Given the description of an element on the screen output the (x, y) to click on. 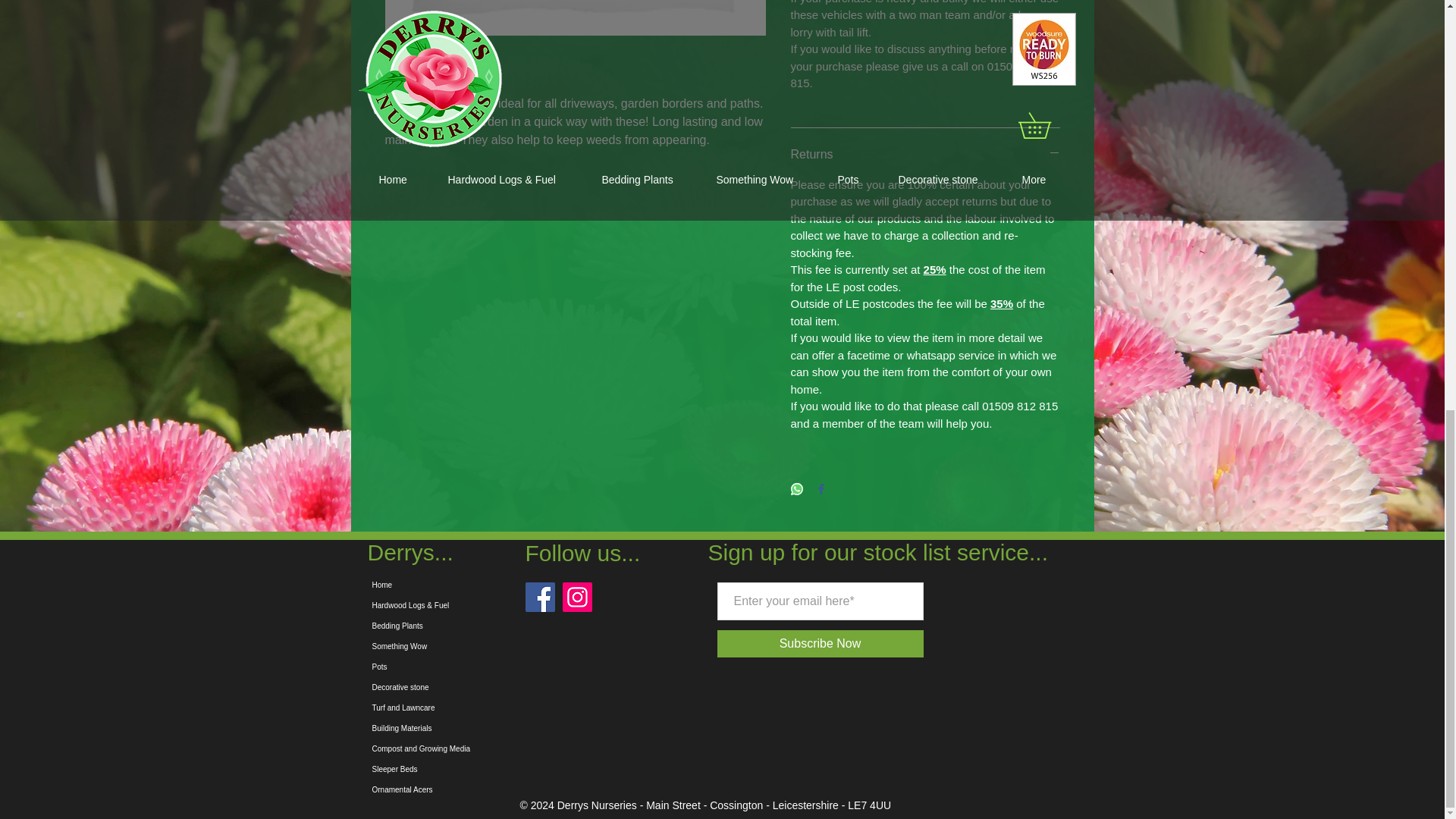
Home (483, 584)
Sleeper Beds (483, 769)
Building Materials (483, 728)
Ornamental Acers (483, 789)
Subscribe Now (820, 643)
Pots (483, 666)
Bedding Plants (483, 625)
Turf and Lawncare (483, 707)
Returns (924, 154)
Decorative stone (483, 687)
